Given the description of an element on the screen output the (x, y) to click on. 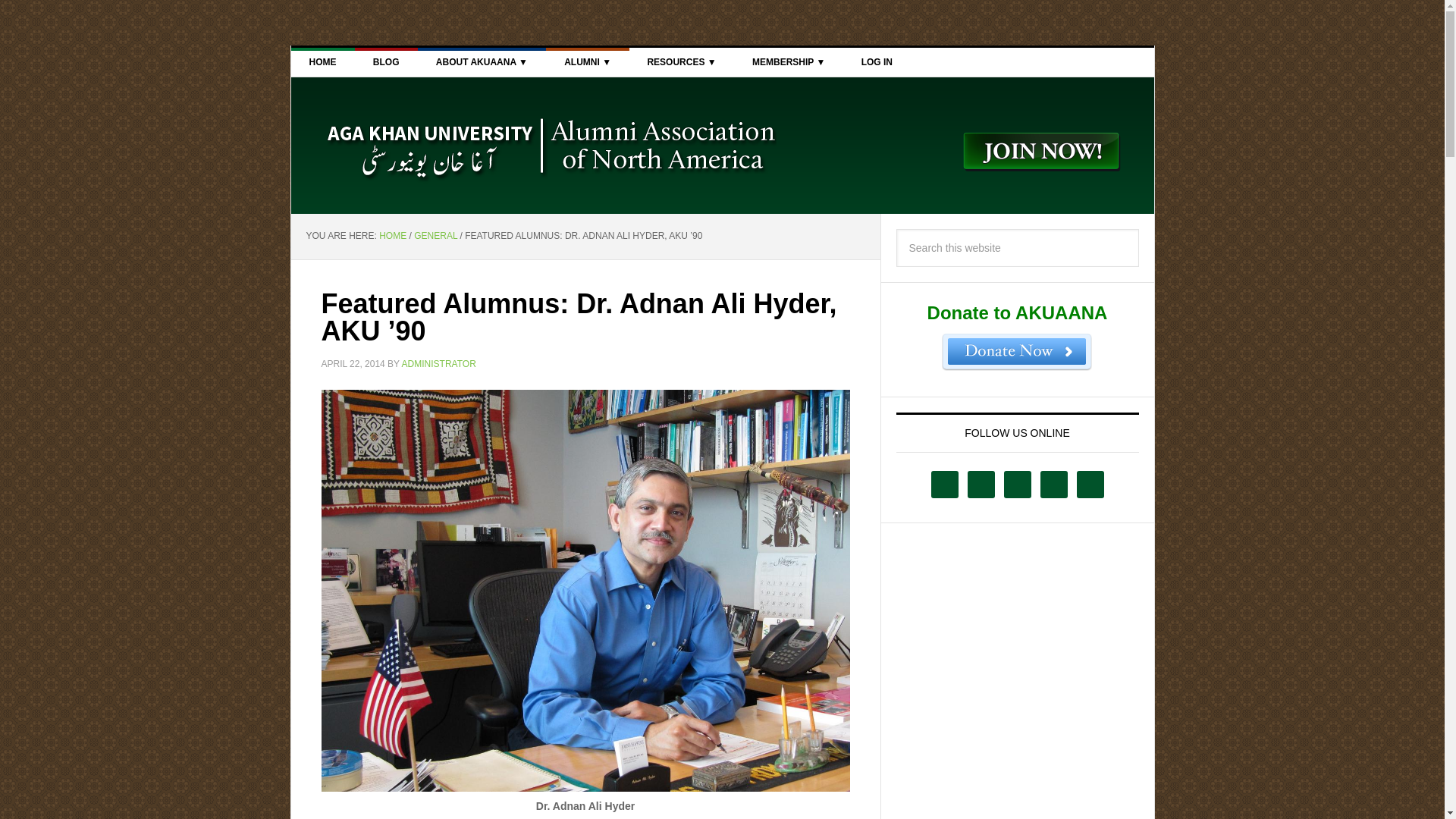
HOME (323, 61)
GENERAL (435, 235)
ADMINISTRATOR (438, 362)
HOME (392, 235)
ALUMNI (587, 61)
MEMBERSHIP (788, 61)
AGA KHAN UNIVERSITY ALUMNI ASSOCIATION OF NORTH AMERICA (548, 145)
BLOG (386, 61)
LOG IN (877, 61)
RESOURCES (680, 61)
ABOUT AKUAANA (481, 61)
